Given the description of an element on the screen output the (x, y) to click on. 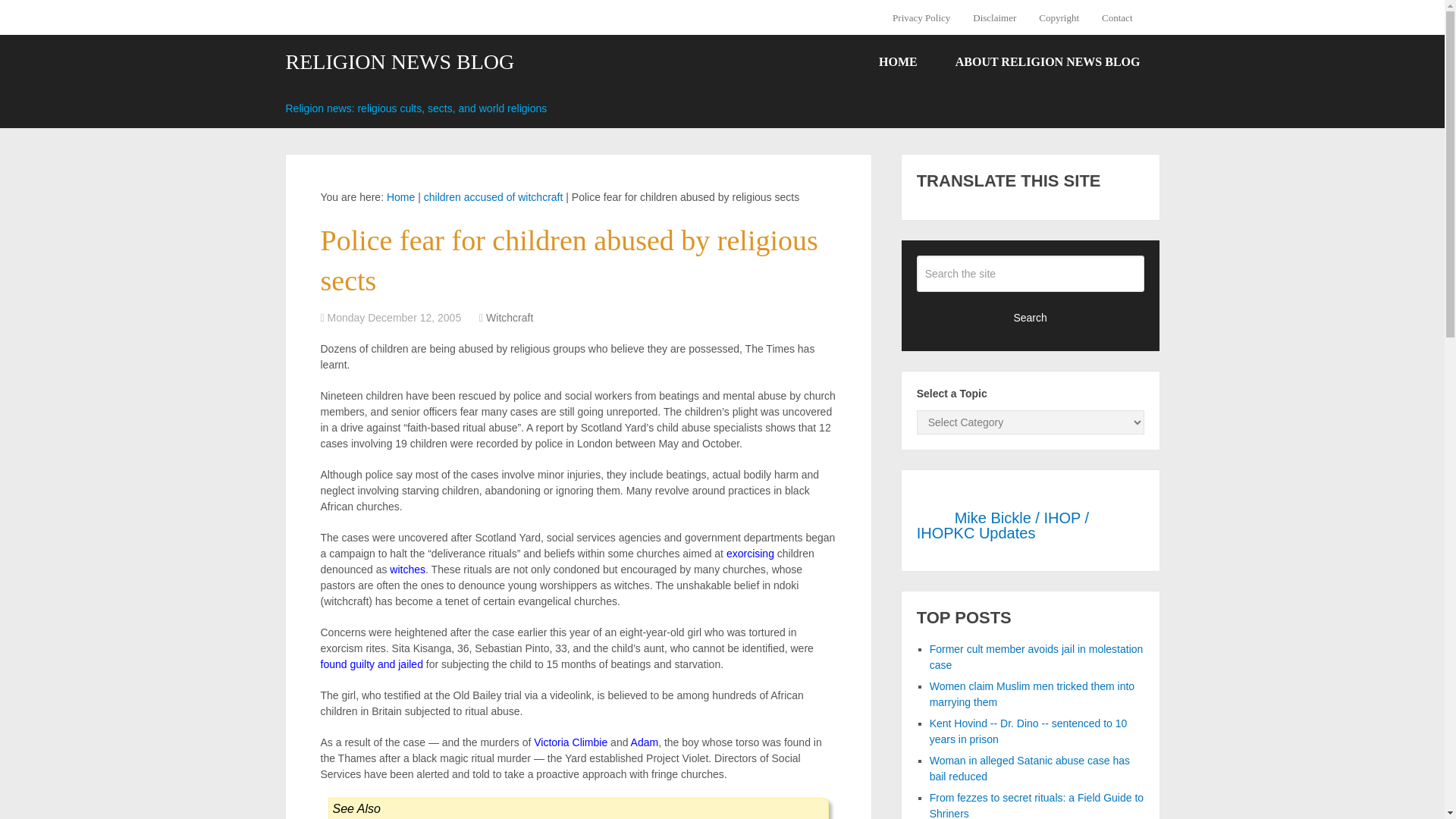
Home (400, 196)
Adam (644, 742)
From fezzes to secret rituals: a Field Guide to Shriners (1036, 805)
Copyright (1058, 17)
found guilty and jailed (371, 664)
Victoria Climbie (570, 742)
children accused of witchcraft (493, 196)
witches (407, 569)
Former cult member avoids jail in molestation case (1036, 656)
Kent Hovind -- Dr. Dino -- sentenced to 10 years in prison (1028, 731)
